Given the description of an element on the screen output the (x, y) to click on. 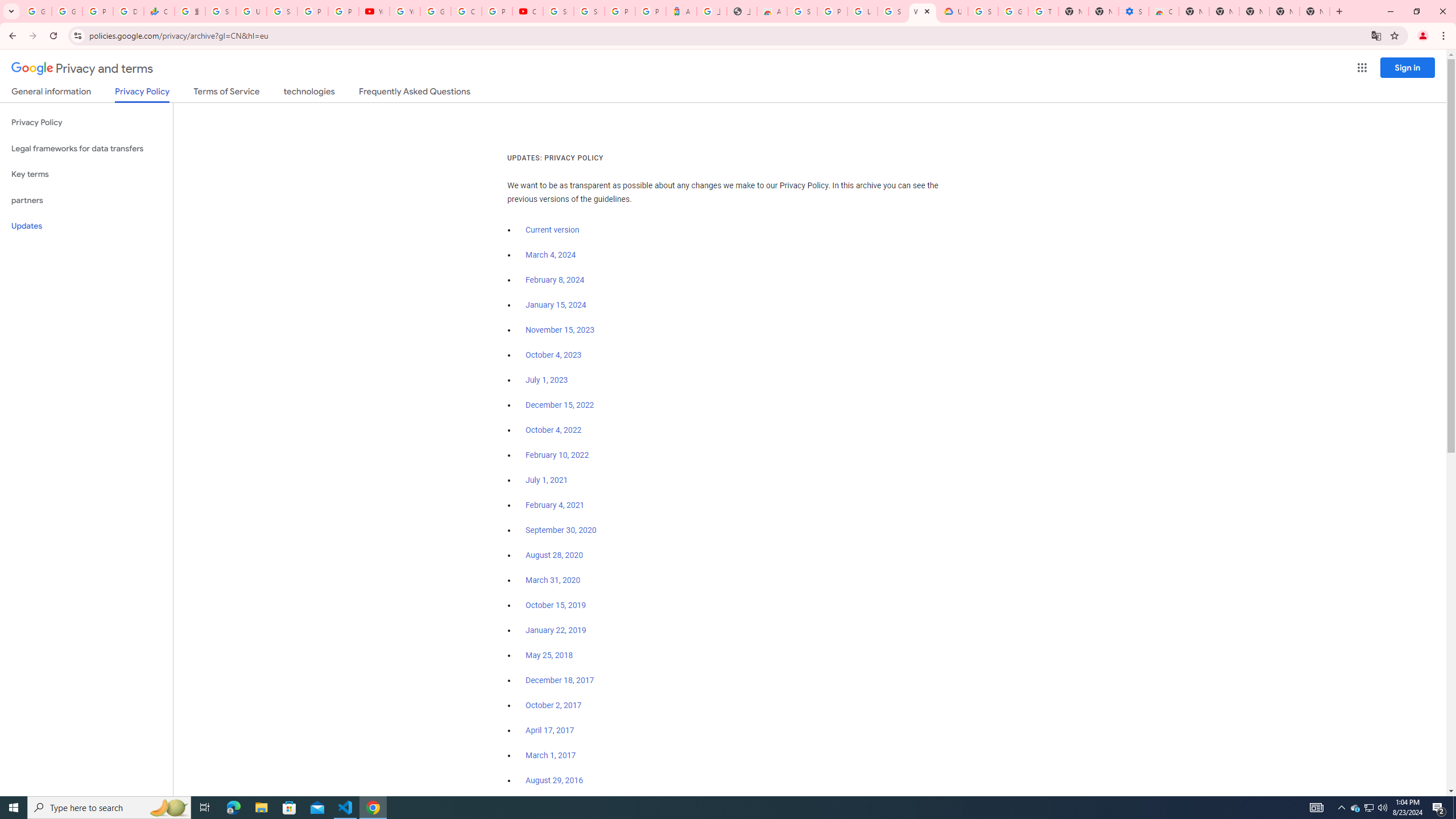
Sign in - Google Accounts (589, 11)
Google Workspace Admin Community (36, 11)
Sign in - Google Accounts (892, 11)
Sign in - Google Accounts (801, 11)
Atour Hotel - Google hotels (681, 11)
Legal frameworks for data transfers (86, 148)
January 22, 2019 (555, 629)
July 1, 2023 (546, 380)
May 25, 2018 (549, 655)
